Given the description of an element on the screen output the (x, y) to click on. 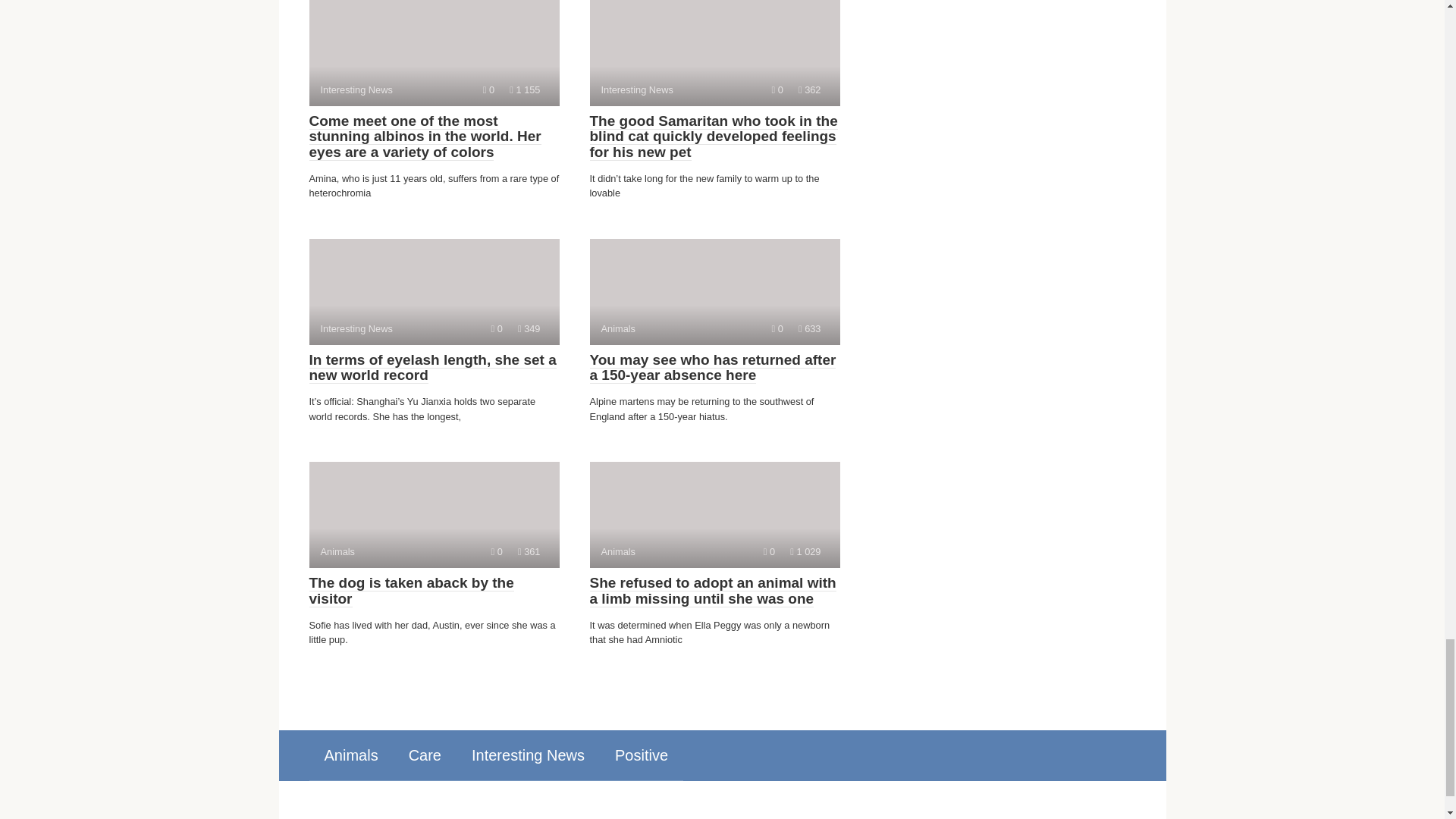
Animals (350, 755)
Care (425, 755)
You may see who has returned after a 150-year absence here (714, 53)
In terms of eyelash length, she set a new world record (712, 368)
The dog is taken aback by the visitor (432, 368)
